Given the description of an element on the screen output the (x, y) to click on. 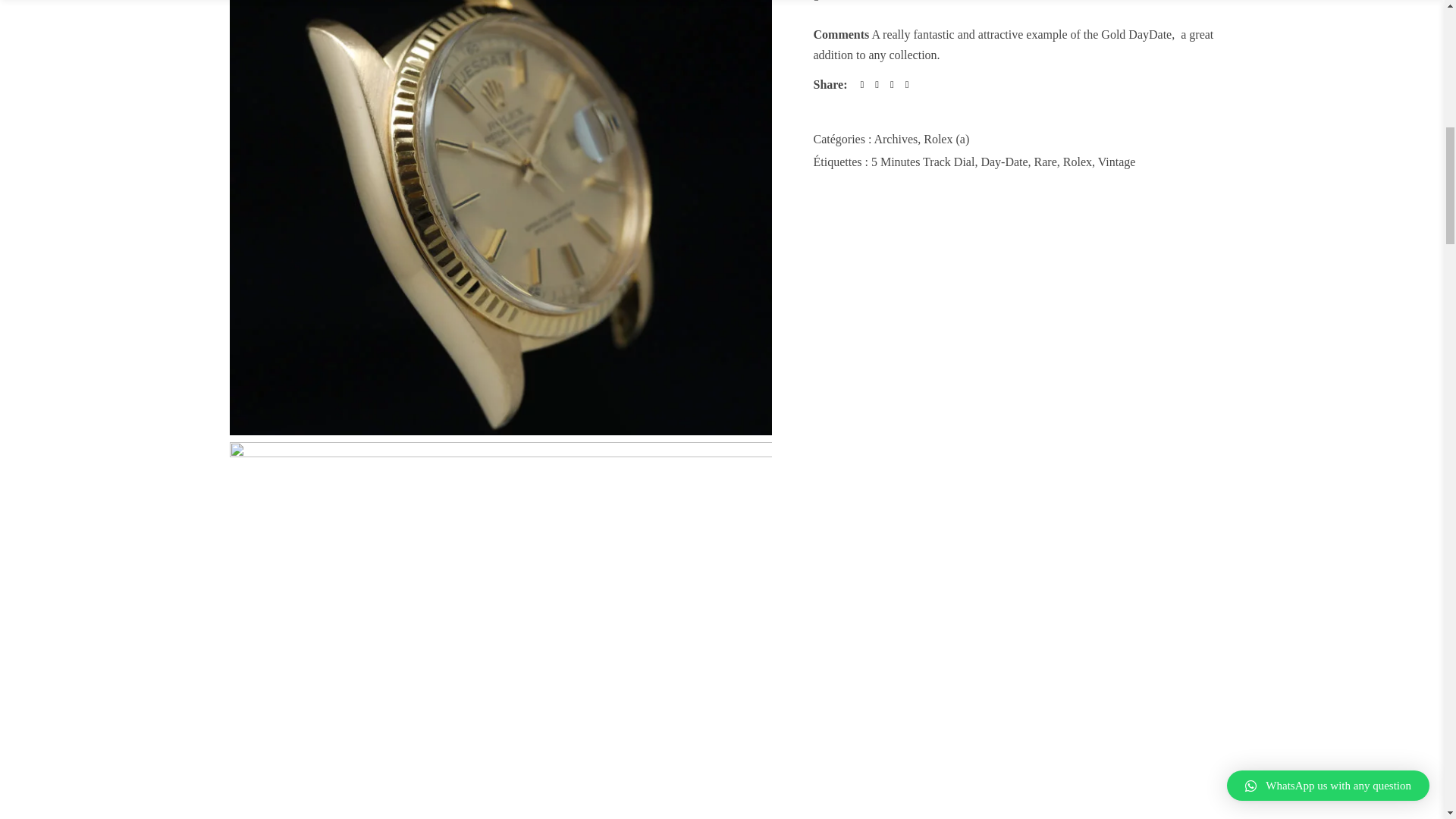
img-288-2943 (499, 431)
img-288-2942 (499, 452)
